Given the description of an element on the screen output the (x, y) to click on. 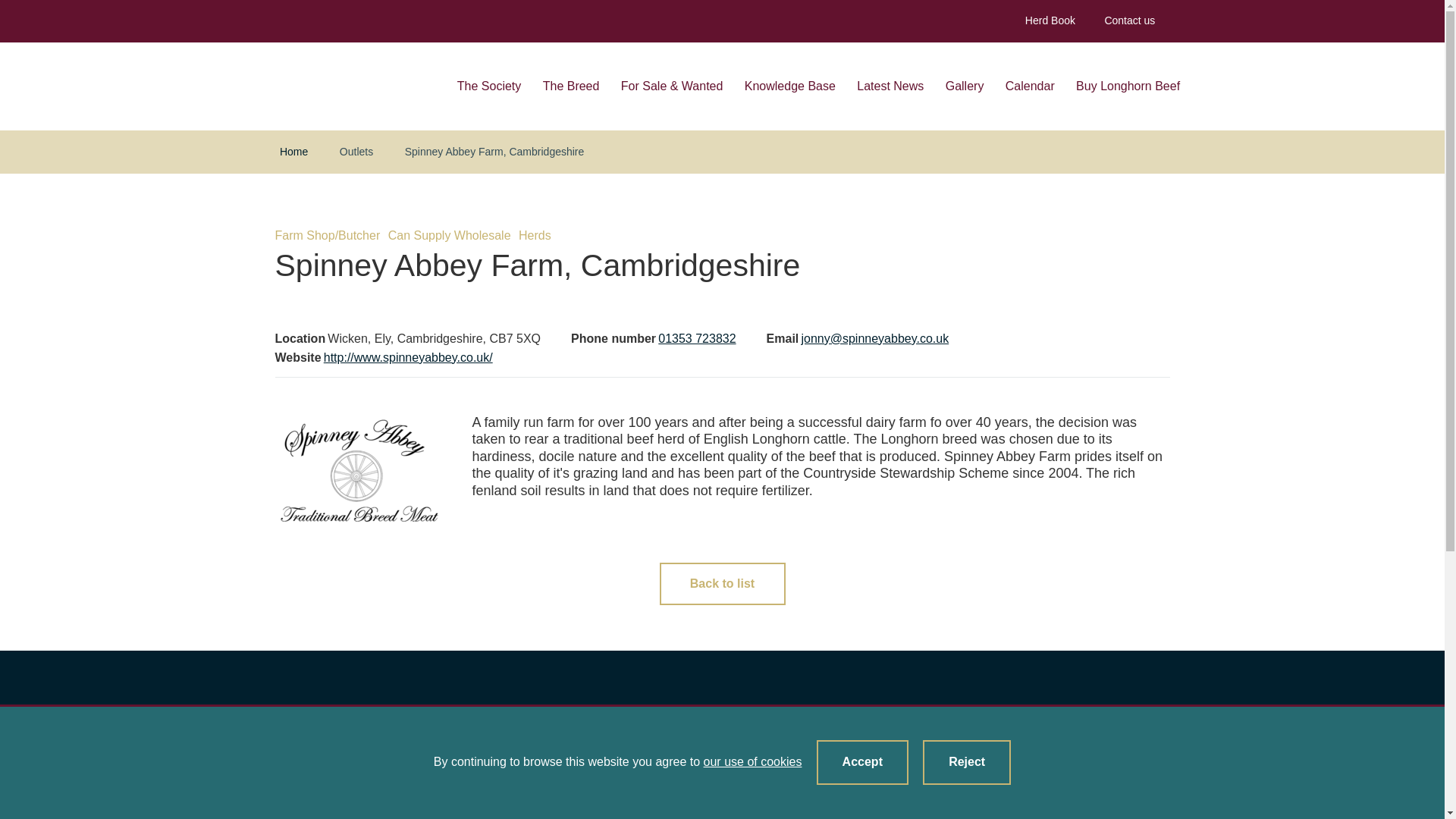
The Society (489, 86)
The Breed (571, 86)
Knowledge Base (789, 86)
Herd Book (1050, 20)
Contact us (1129, 20)
